Given the description of an element on the screen output the (x, y) to click on. 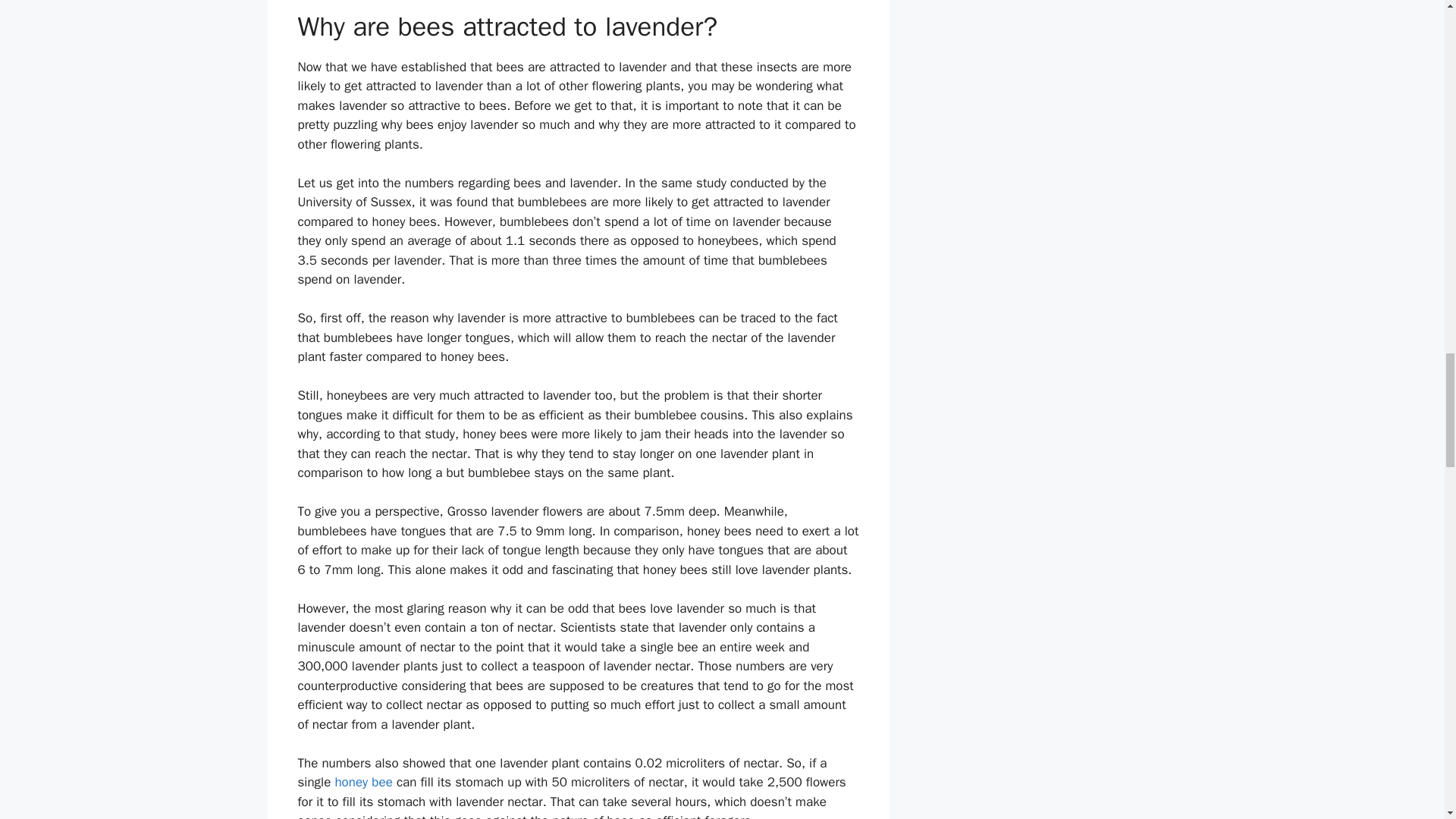
honey bee (362, 781)
honey bee (362, 781)
